Given the description of an element on the screen output the (x, y) to click on. 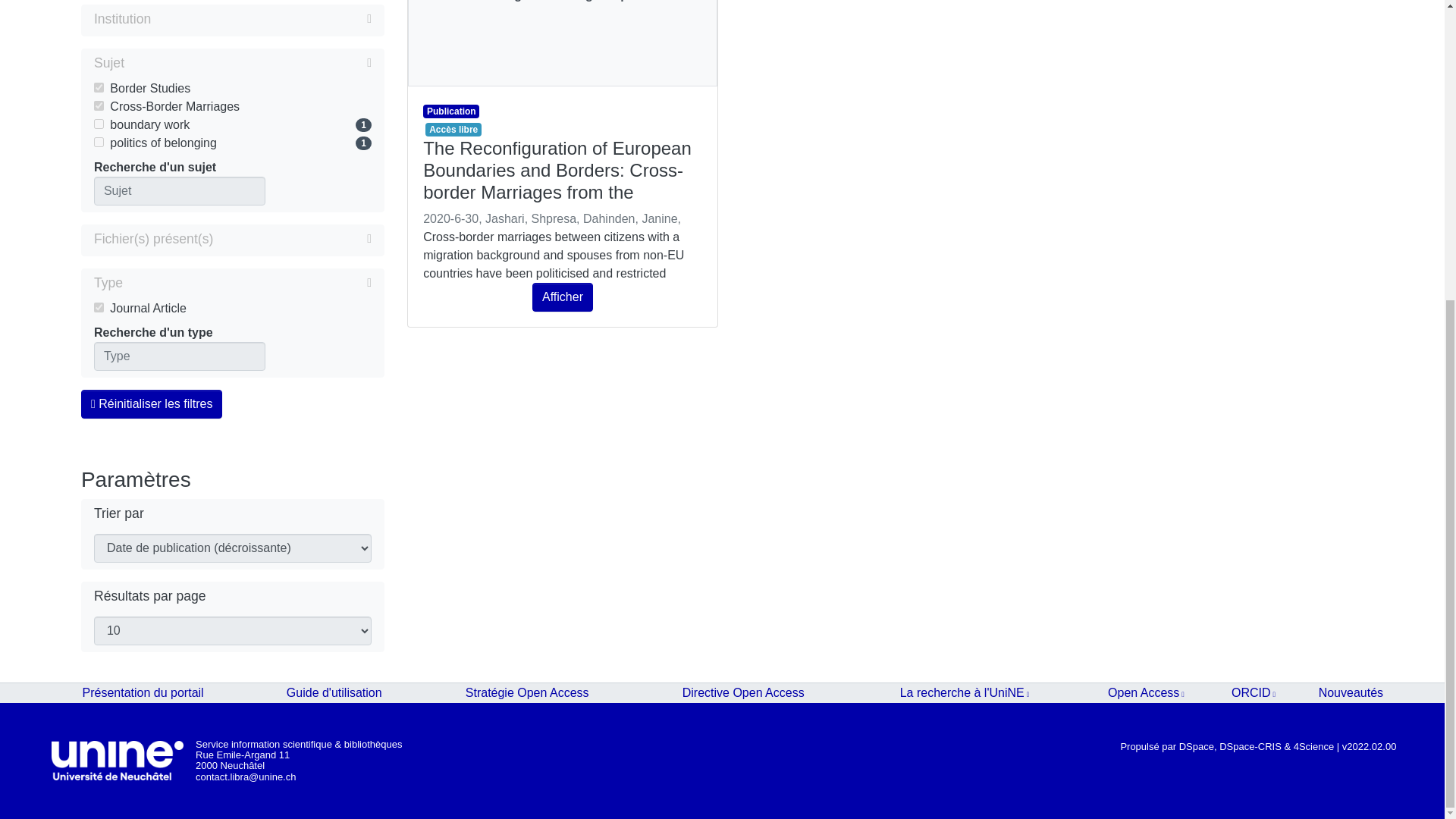
on (98, 105)
Filtre (247, 63)
on (98, 307)
on (98, 142)
Filtre (246, 282)
Institution (232, 20)
on (98, 123)
Sujet (232, 64)
on (98, 87)
